Given the description of an element on the screen output the (x, y) to click on. 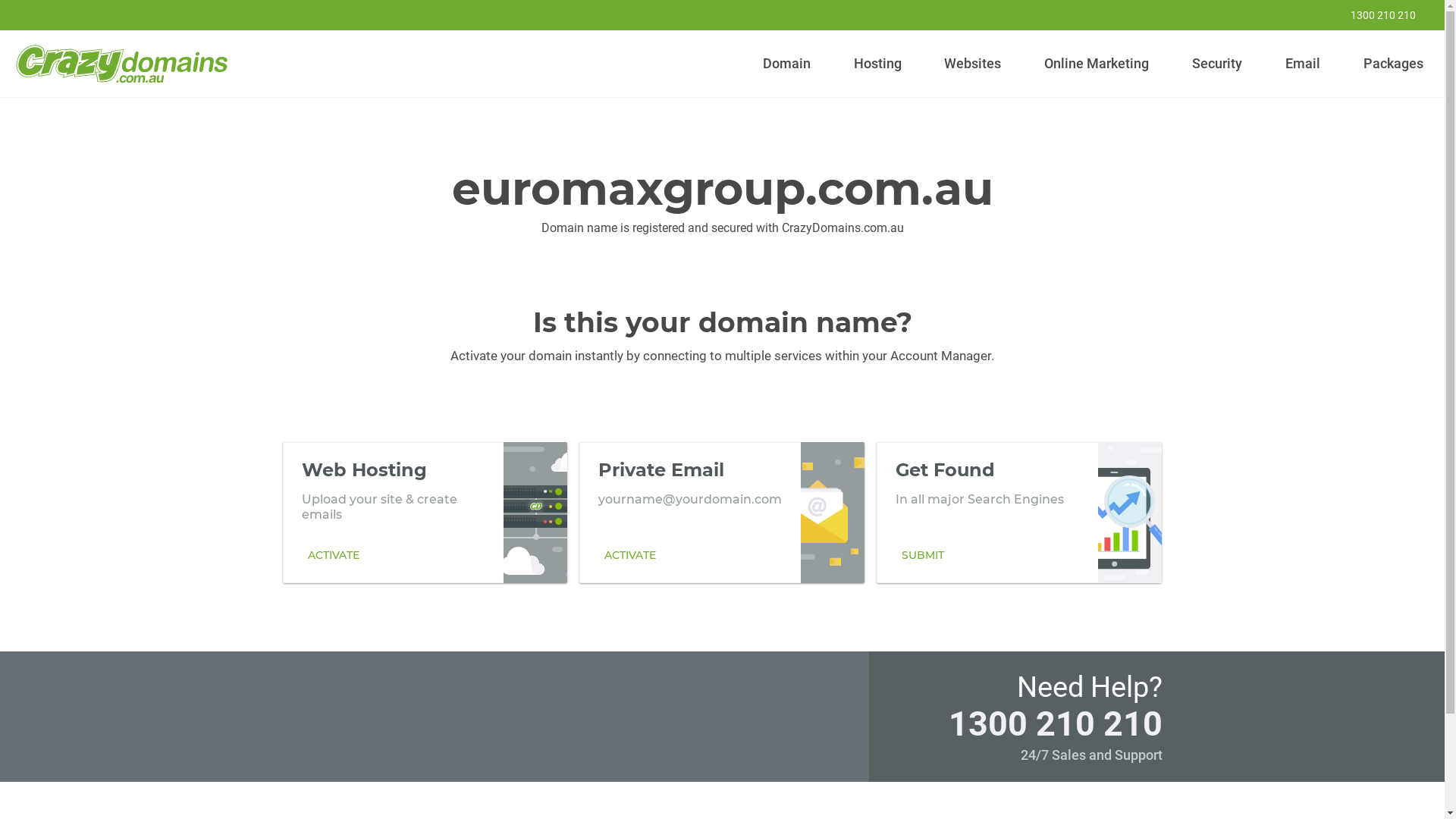
Security Element type: text (1217, 63)
Websites Element type: text (972, 63)
1300 210 210 Element type: text (1373, 15)
Packages Element type: text (1392, 63)
Get Found
In all major Search Engines
SUBMIT Element type: text (1018, 511)
Domain Element type: text (786, 63)
1300 210 210 Element type: text (1054, 723)
Hosting Element type: text (877, 63)
Email Element type: text (1302, 63)
Web Hosting
Upload your site & create emails
ACTIVATE Element type: text (424, 511)
Online Marketing Element type: text (1096, 63)
Private Email
yourname@yourdomain.com
ACTIVATE Element type: text (721, 511)
